Given the description of an element on the screen output the (x, y) to click on. 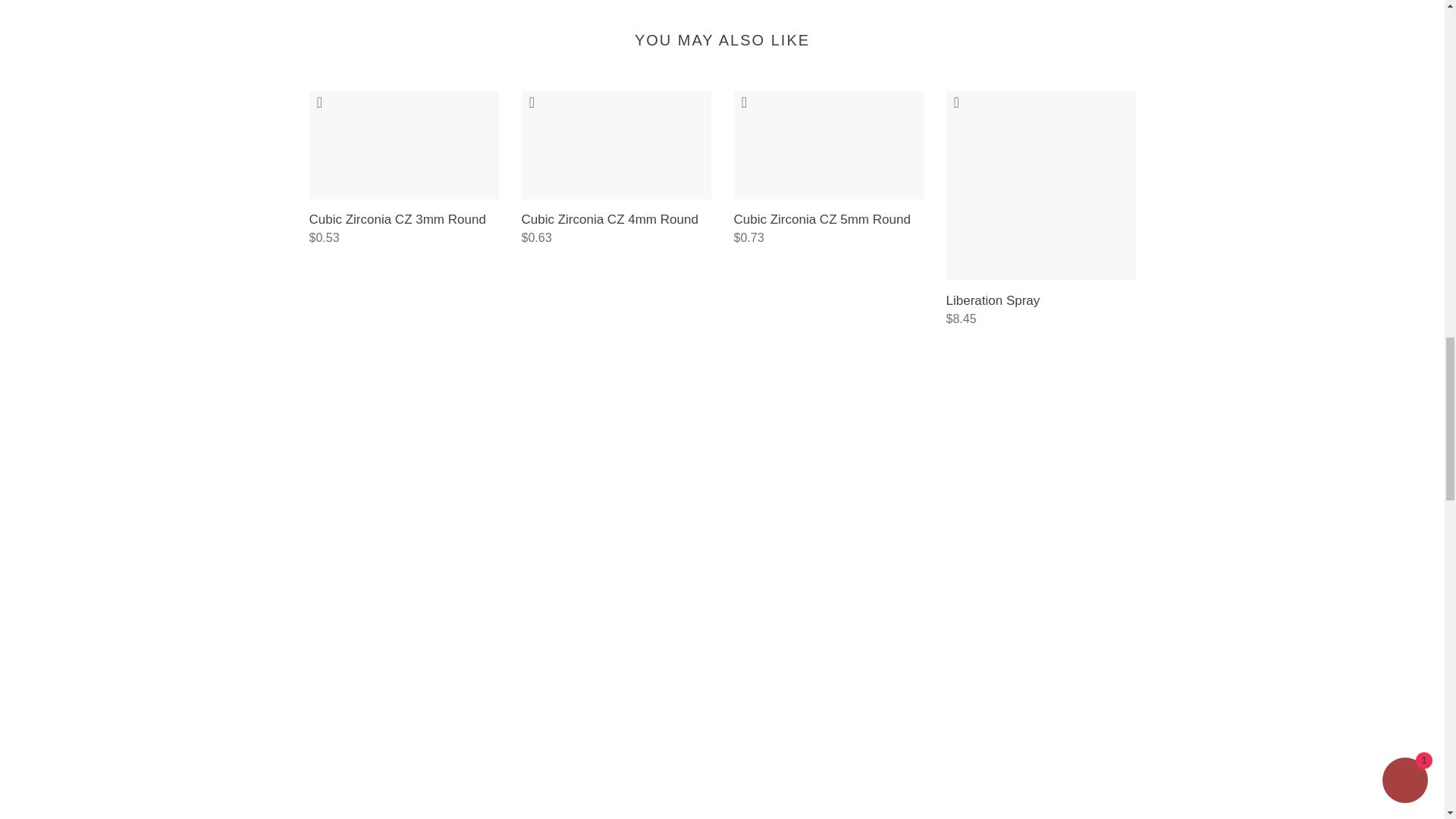
Add to wishlist (744, 102)
Add to wishlist (957, 102)
Add to wishlist (319, 102)
Add to wishlist (532, 102)
